Given the description of an element on the screen output the (x, y) to click on. 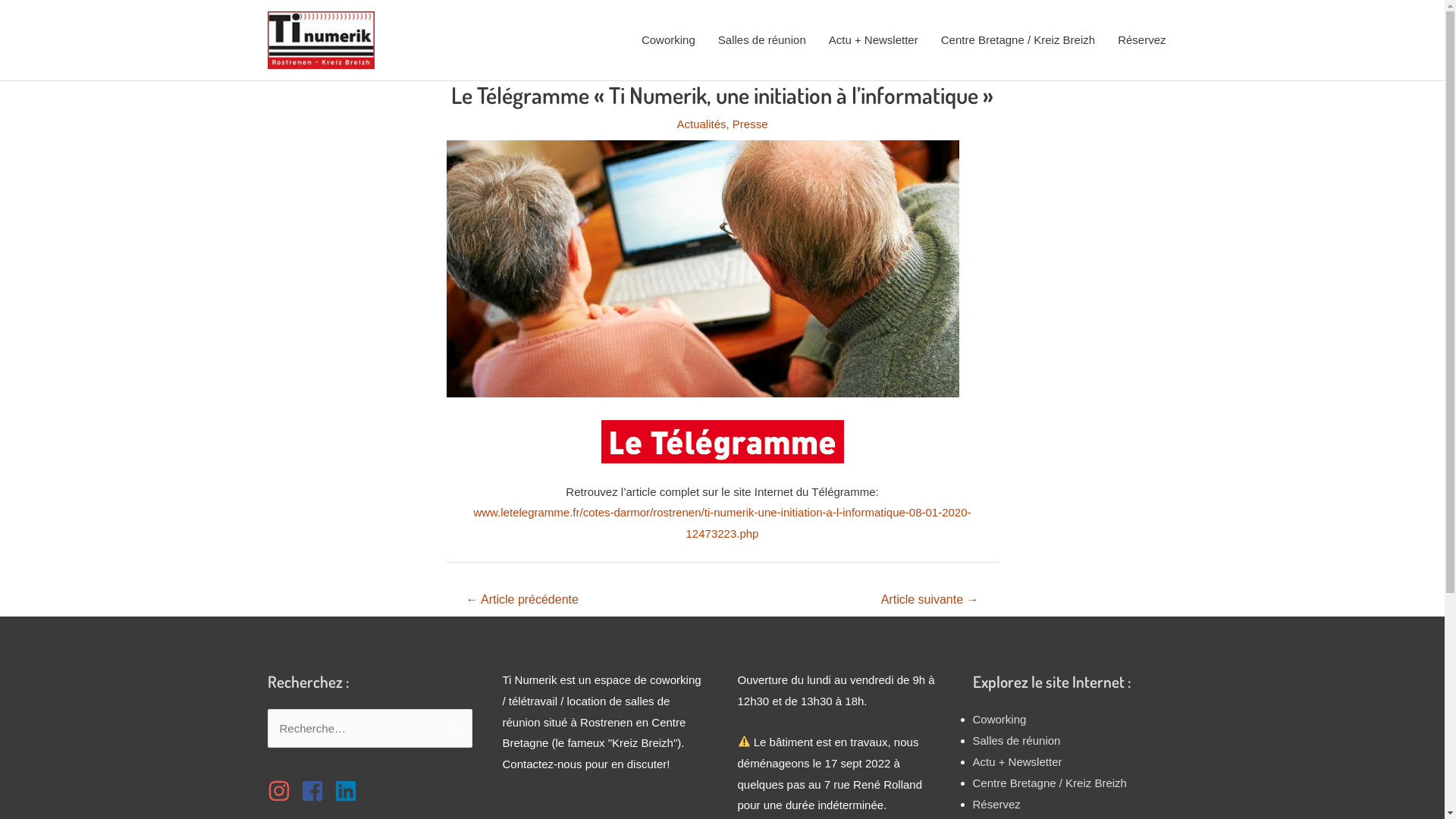
Centre Bretagne / Kreiz Breizh Element type: text (1017, 40)
Centre Bretagne / Kreiz Breizh Element type: text (1049, 782)
Coworking Element type: text (668, 40)
Actu + Newsletter Element type: text (873, 40)
Actu + Newsletter Element type: text (1016, 761)
Rechercher Element type: text (455, 724)
Coworking Element type: text (999, 718)
Presse Element type: text (750, 123)
